Given the description of an element on the screen output the (x, y) to click on. 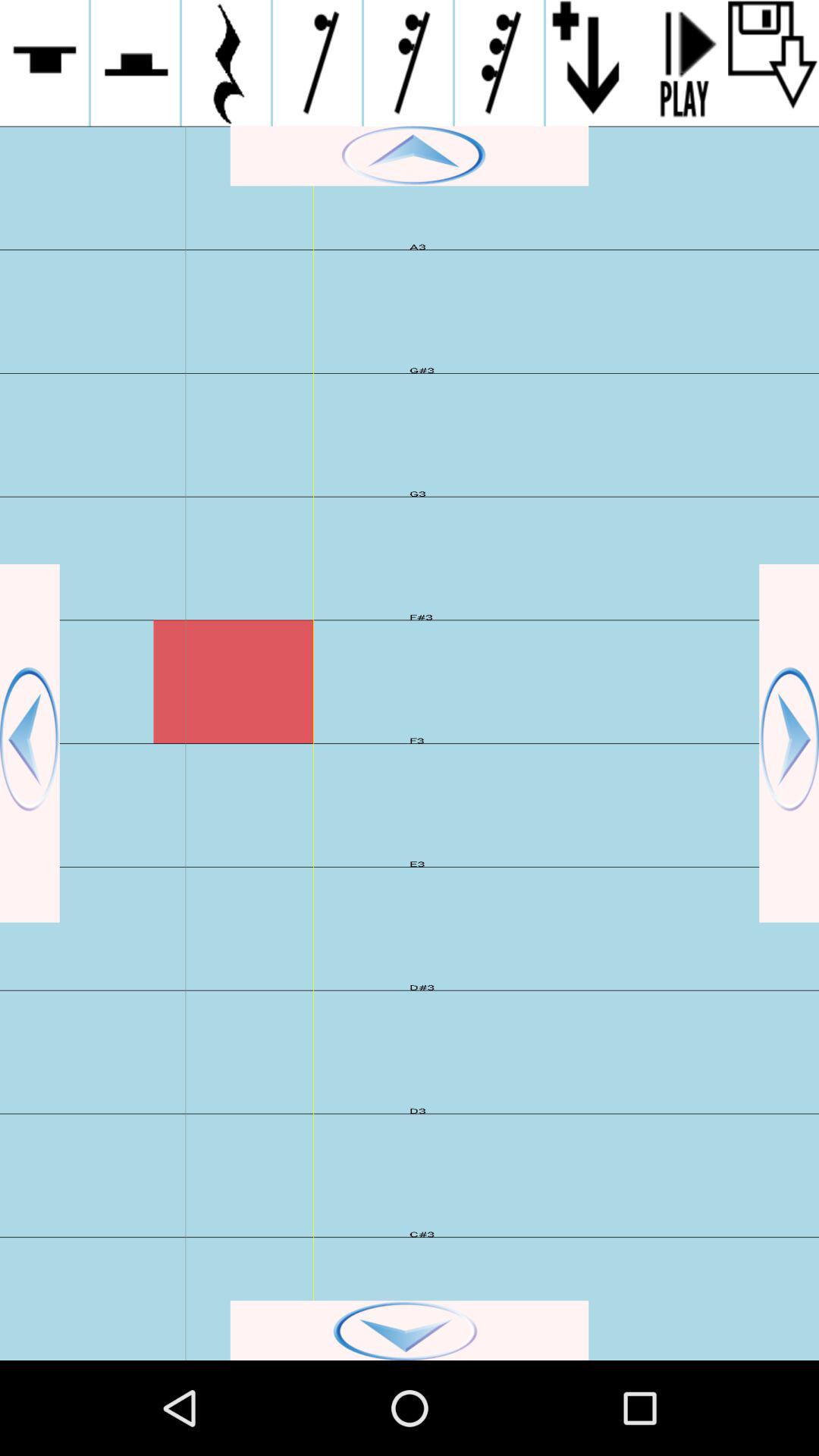
scroll up (409, 155)
